Given the description of an element on the screen output the (x, y) to click on. 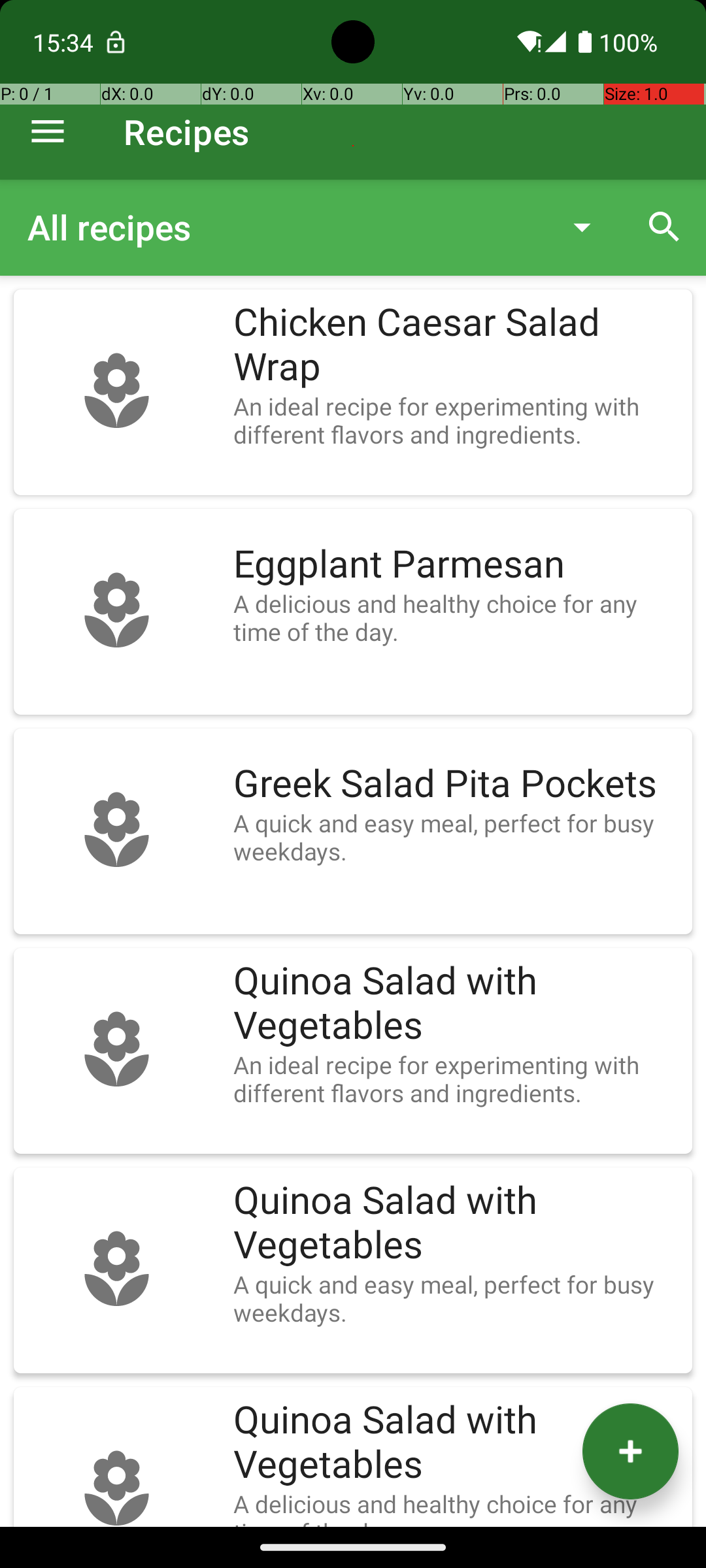
Quinoa Salad with Vegetables Element type: android.widget.TextView (455, 1003)
